Given the description of an element on the screen output the (x, y) to click on. 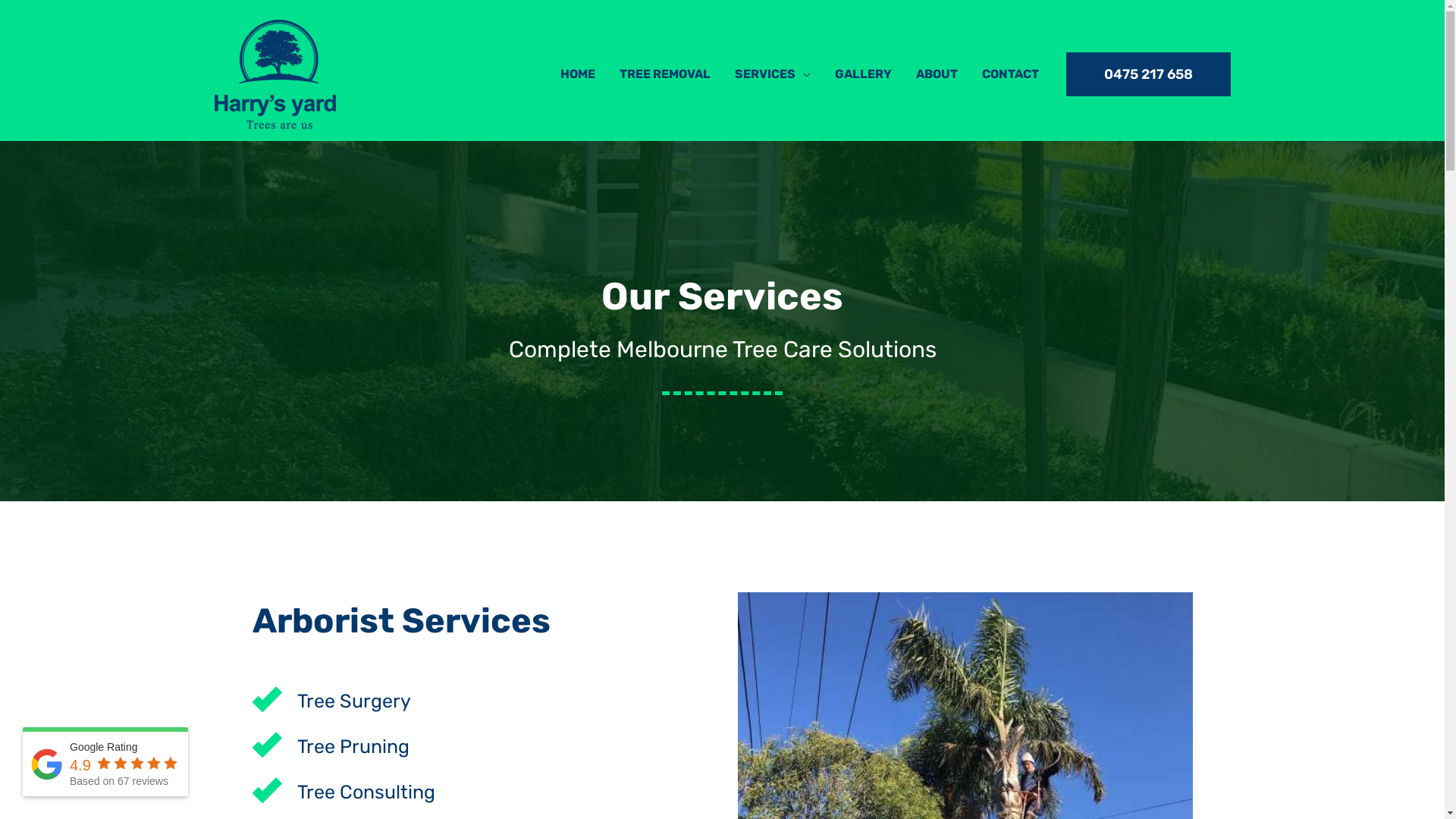
CONTACT Element type: text (1009, 73)
ABOUT Element type: text (936, 73)
0475 217 658 Element type: text (1148, 74)
GALLERY Element type: text (862, 73)
SERVICES Element type: text (771, 73)
HOME Element type: text (576, 73)
TREE REMOVAL Element type: text (663, 73)
